Given the description of an element on the screen output the (x, y) to click on. 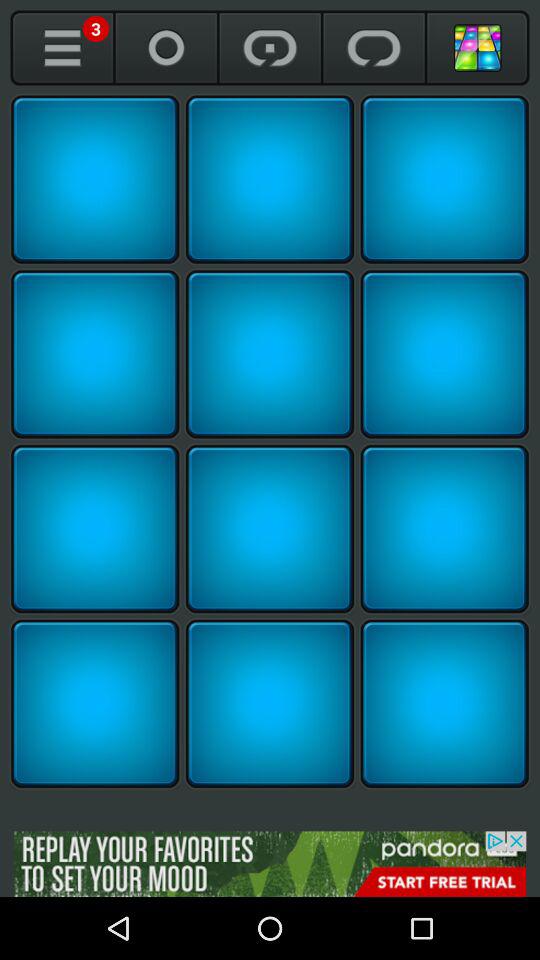
click on the third icon from the right (269, 48)
